Given the description of an element on the screen output the (x, y) to click on. 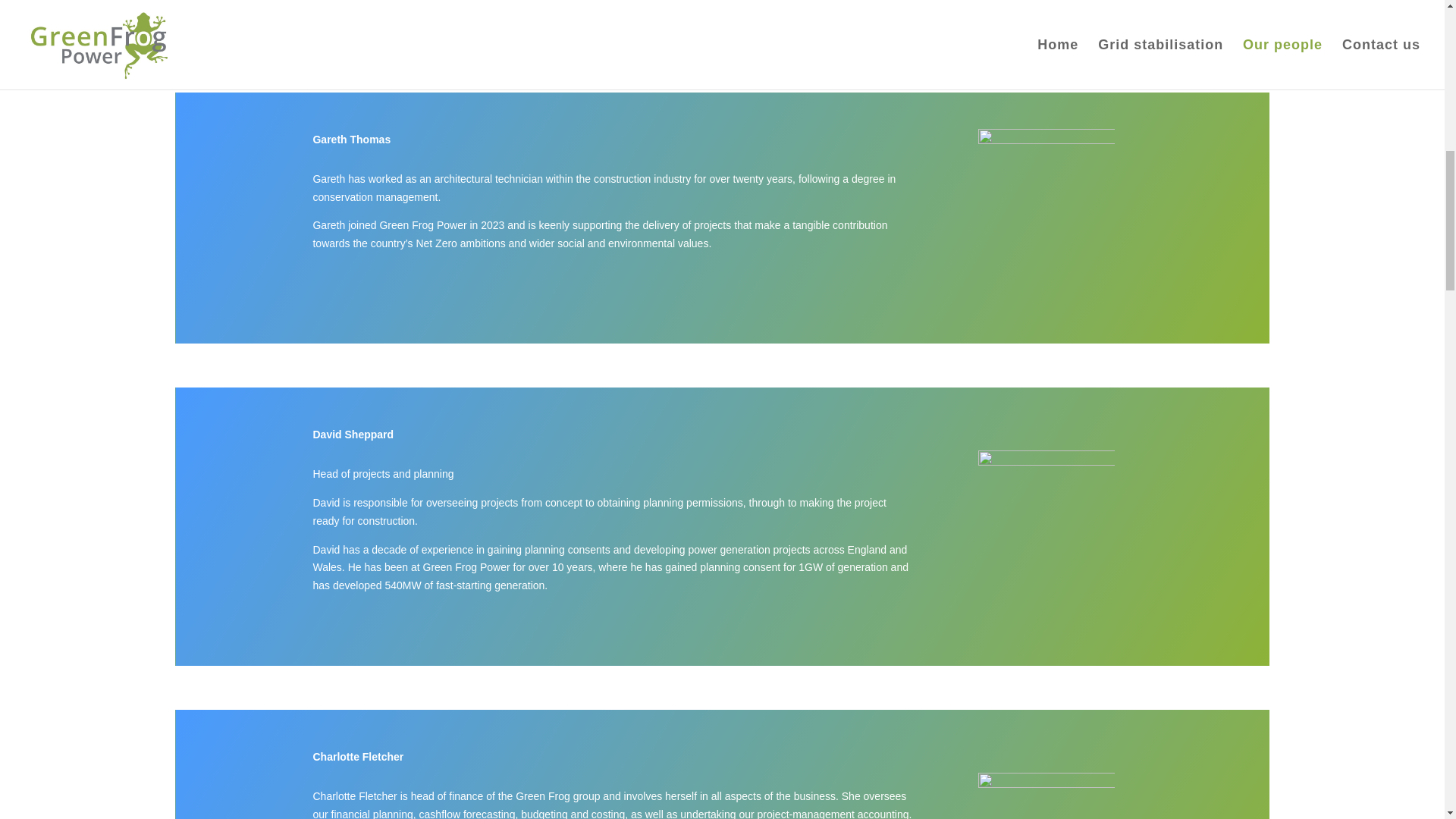
Jack Reynolds (1046, 7)
charlotte Fletcher green frog power (1046, 796)
